Given the description of an element on the screen output the (x, y) to click on. 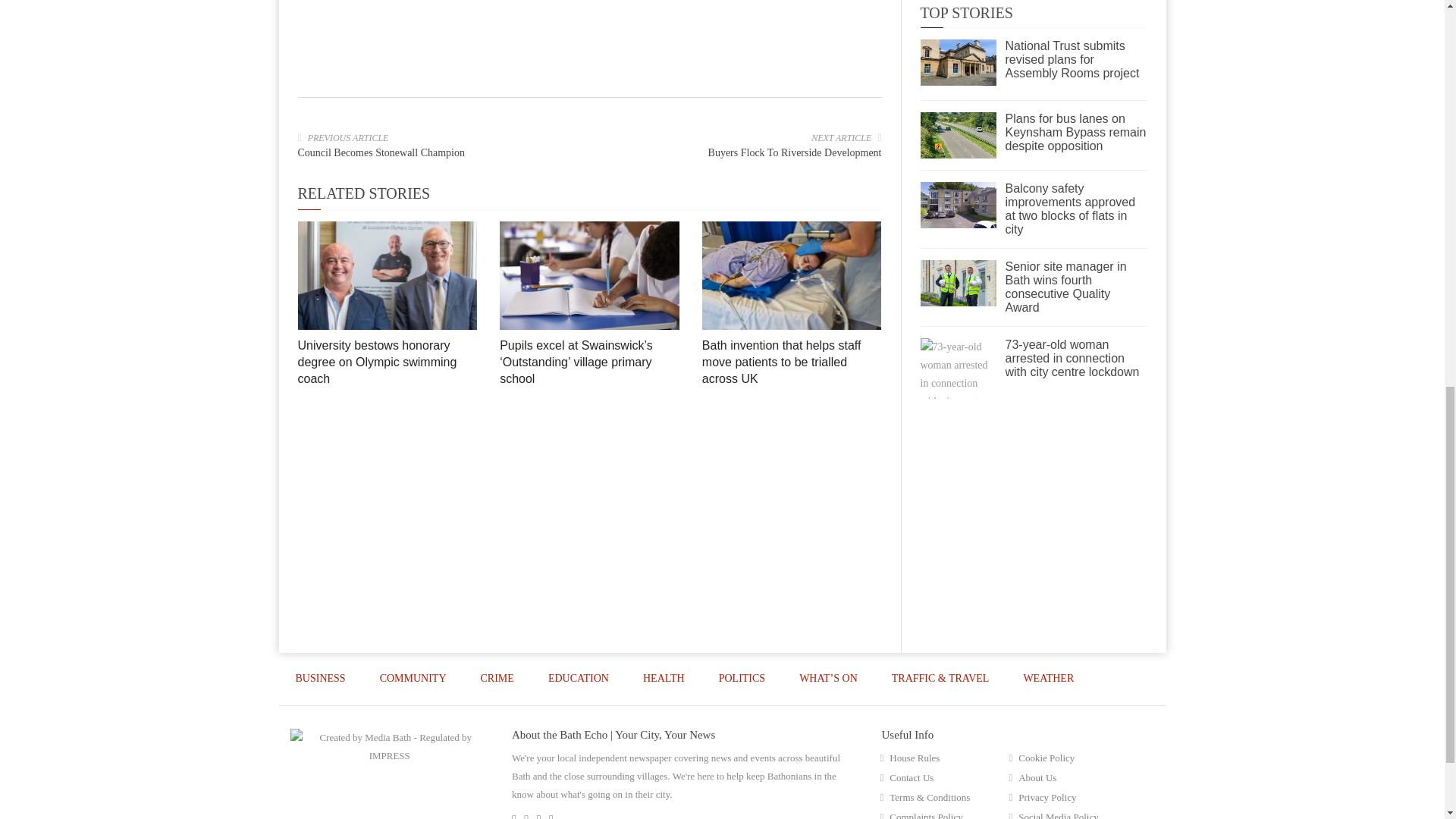
Council Becomes Stonewall Champion (380, 152)
Buyers Flock To Riverside Development (794, 152)
BACK TO TOP (1113, 729)
